Given the description of an element on the screen output the (x, y) to click on. 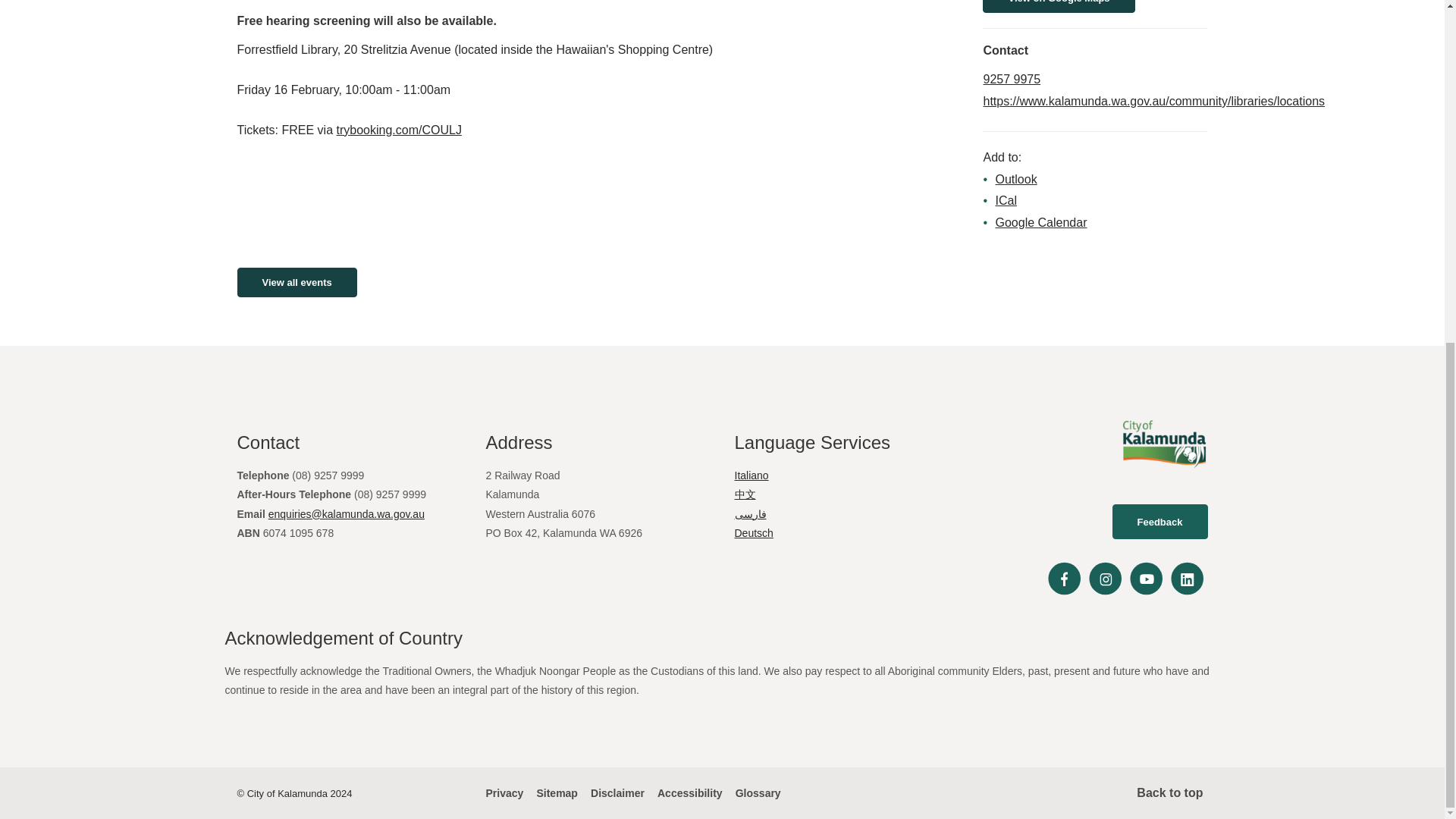
Opens in a new tab (1153, 275)
